Given the description of an element on the screen output the (x, y) to click on. 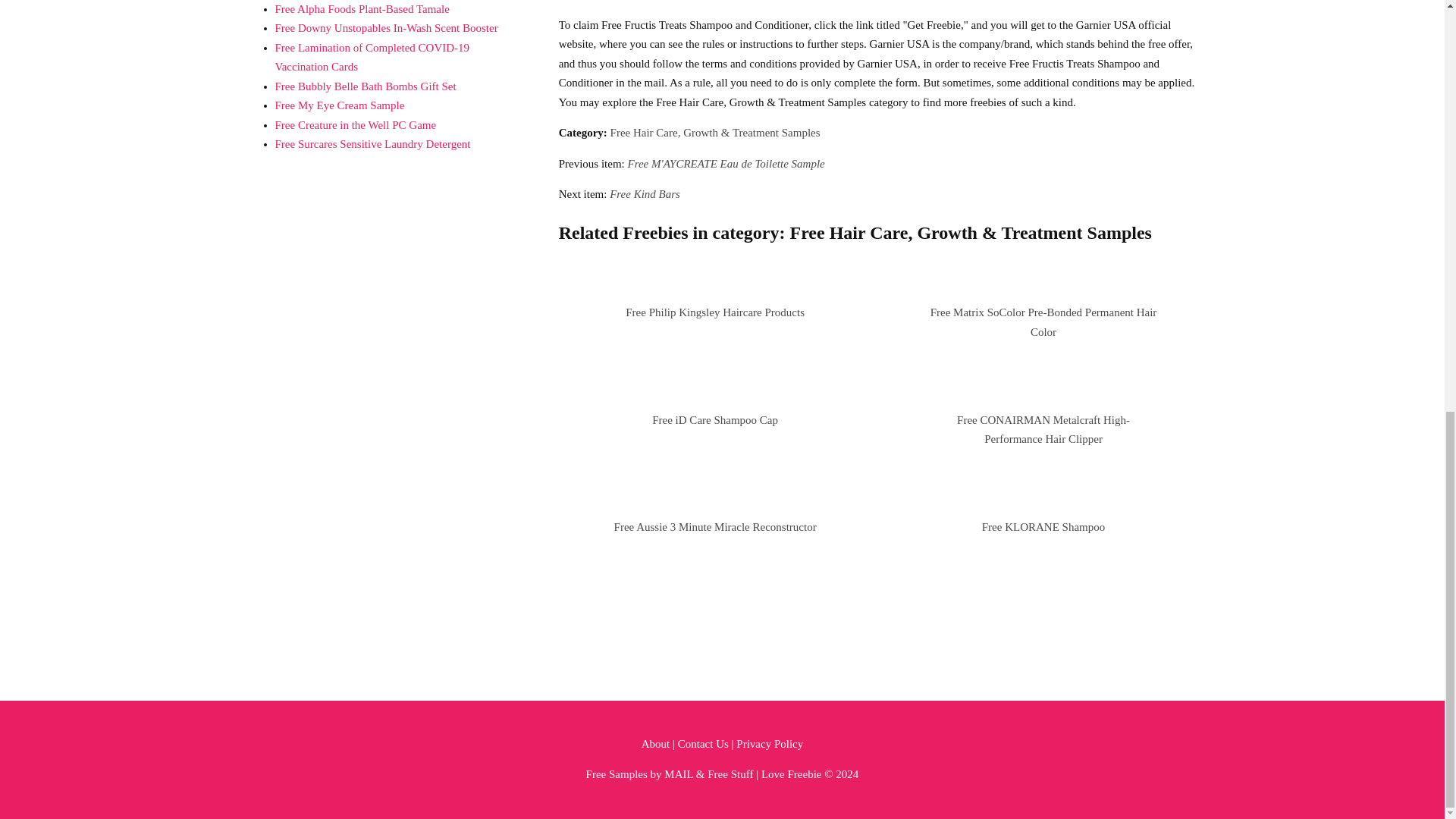
Free Kind Bars (644, 193)
Free Philip Kingsley Haircare Products (715, 312)
Free Aussie 3 Minute Miracle Reconstructor (715, 526)
Free CONAIRMAN Metalcraft High-Performance Hair Clipper (1042, 429)
Free Matrix SoColor Pre-Bonded Permanent Hair Color (1043, 322)
Free KLORANE Shampoo (1043, 526)
Free iD Care Shampoo Cap (714, 419)
Free M'AYCREATE Eau de Toilette Sample (726, 163)
